Given the description of an element on the screen output the (x, y) to click on. 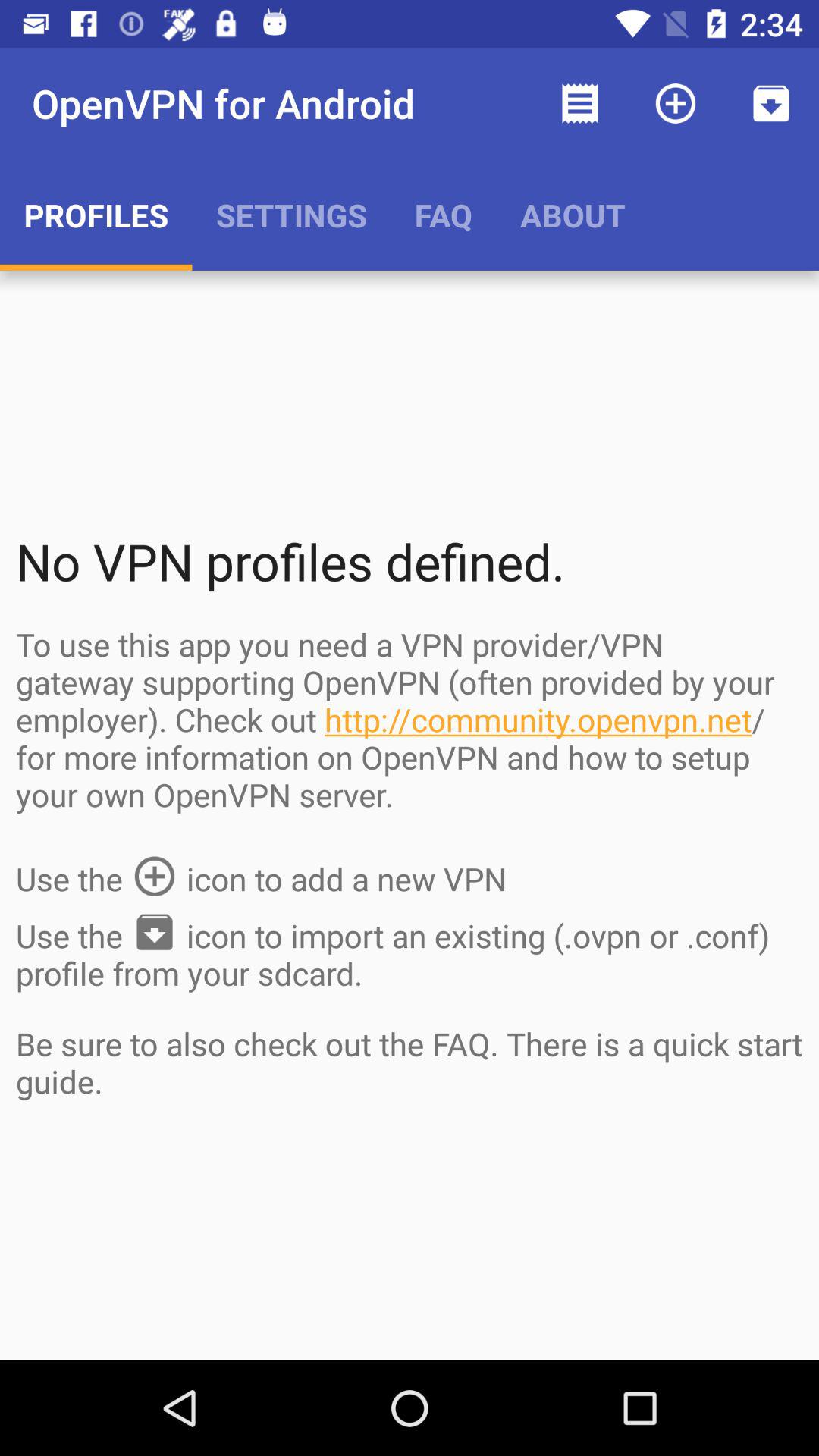
open item next to faq app (572, 214)
